Given the description of an element on the screen output the (x, y) to click on. 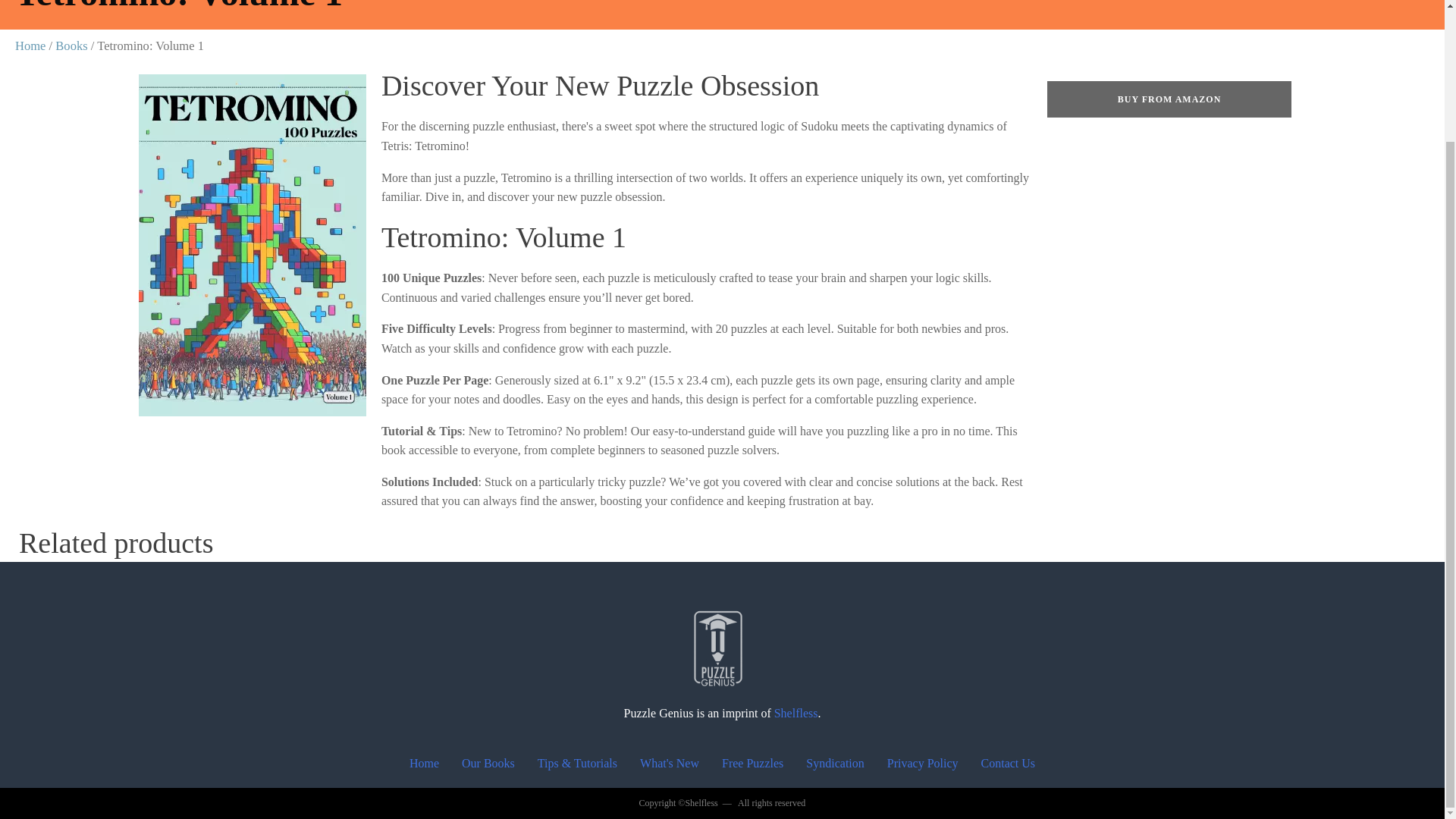
BUY FROM AMAZON (1168, 99)
Shelfless (796, 712)
Home (423, 763)
Books (71, 45)
Home (29, 45)
